Given the description of an element on the screen output the (x, y) to click on. 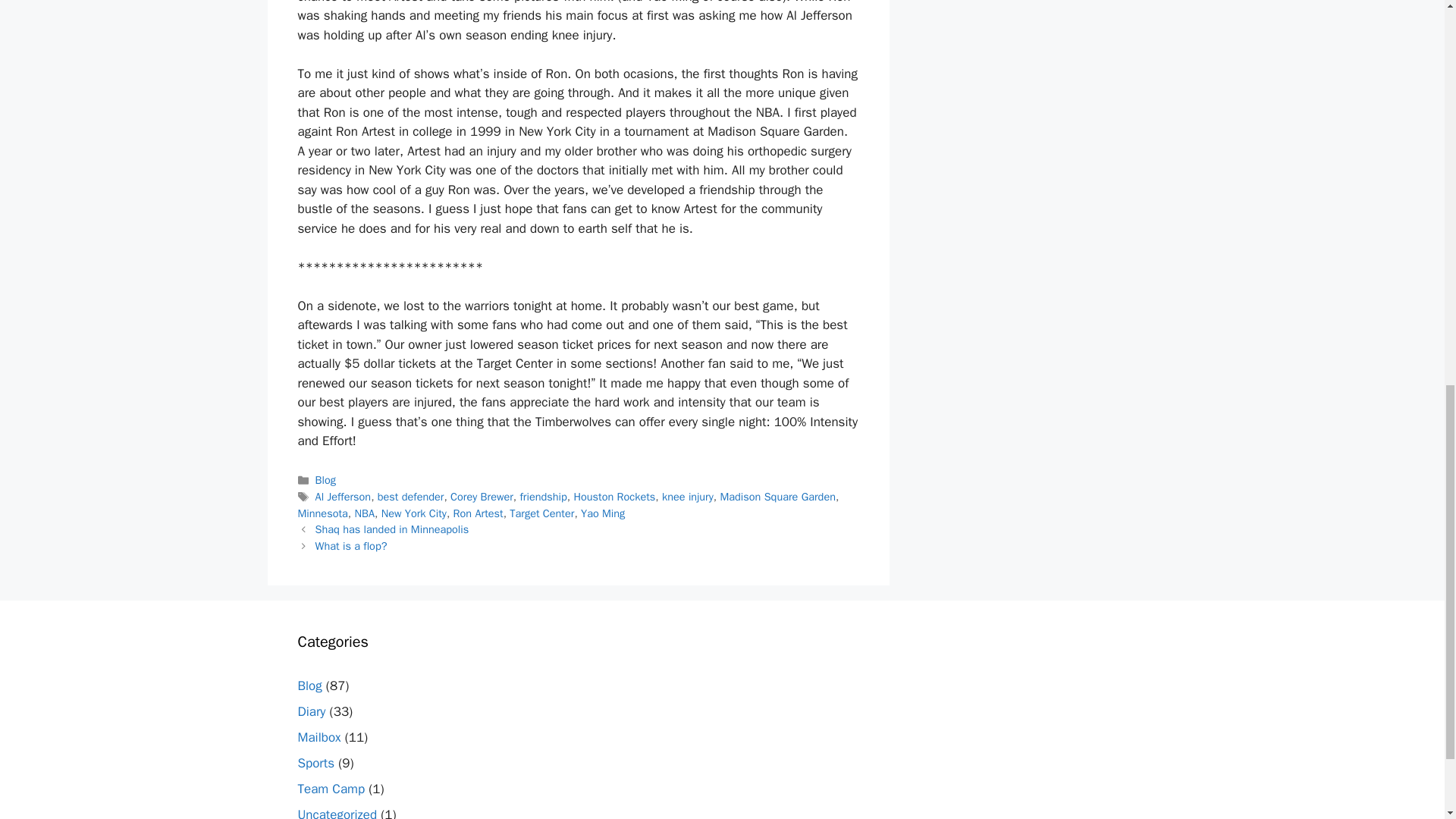
Diary (310, 711)
Sports (315, 763)
Houston Rockets (614, 496)
Target Center (541, 513)
Shaq has landed in Minneapolis (391, 529)
Mailbox (318, 737)
Team Camp (331, 788)
Minnesota (322, 513)
knee injury (687, 496)
best defender (410, 496)
